Given the description of an element on the screen output the (x, y) to click on. 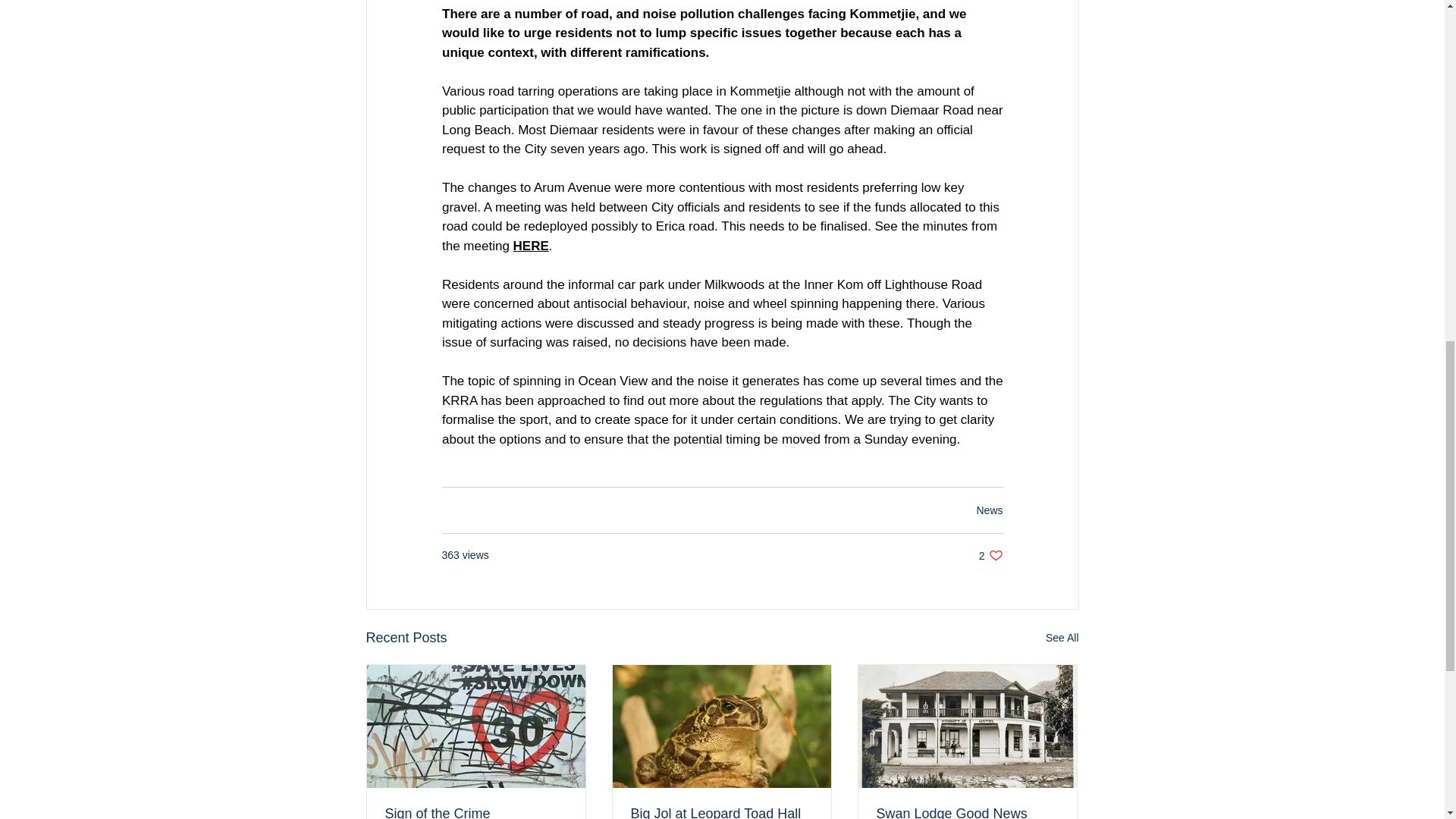
See All (990, 554)
HERE (1061, 638)
News (530, 245)
